Given the description of an element on the screen output the (x, y) to click on. 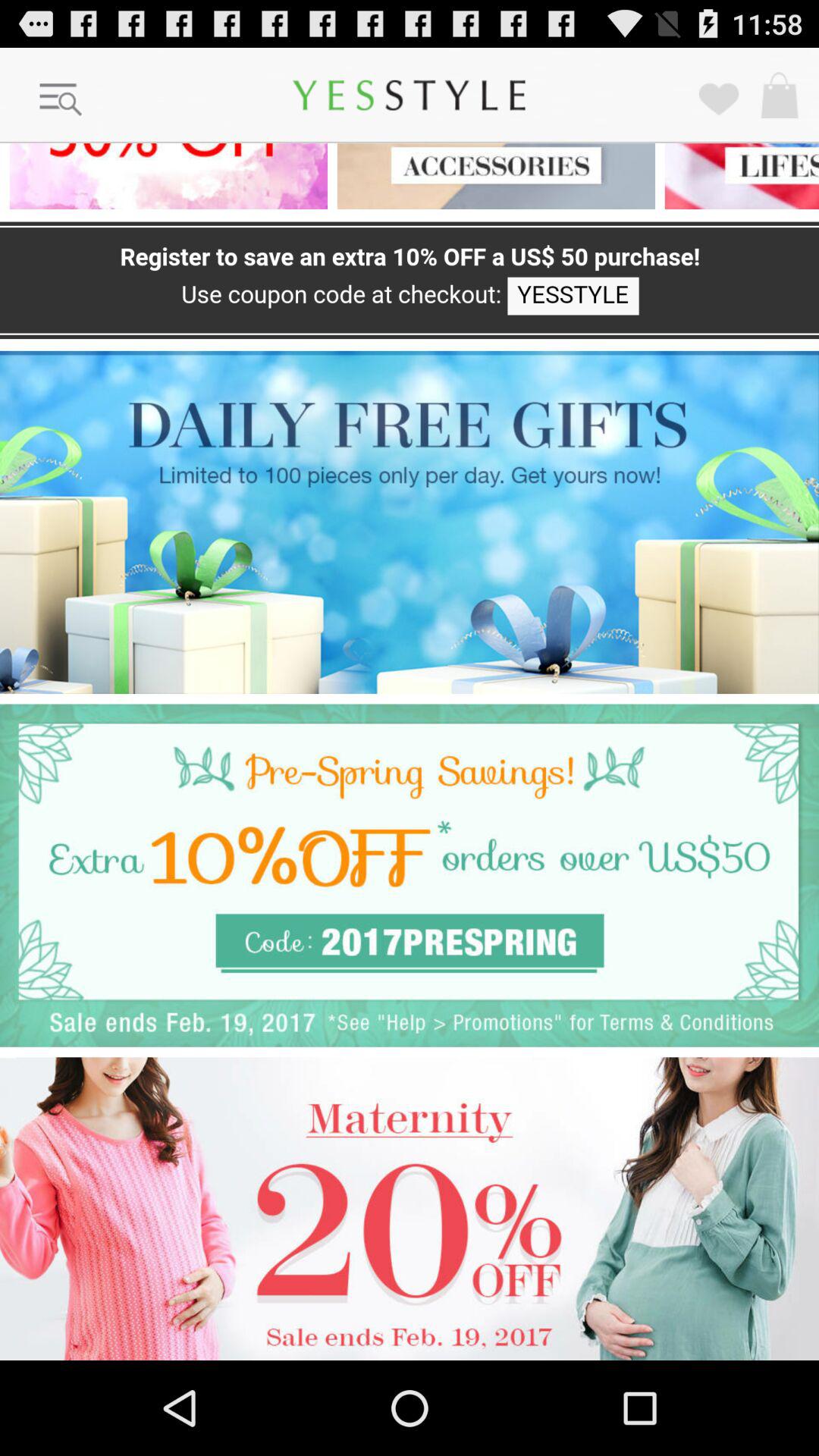
go to advertisement option (409, 875)
